Given the description of an element on the screen output the (x, y) to click on. 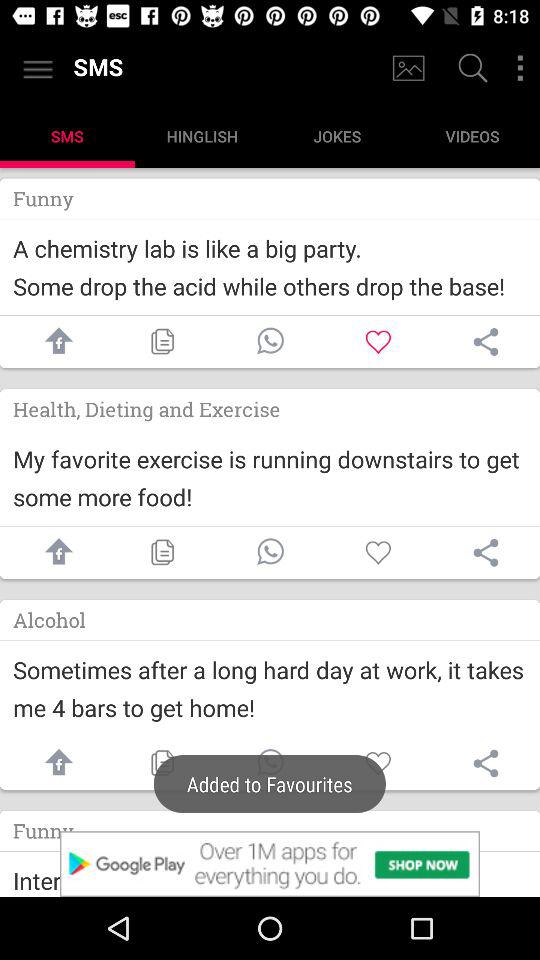
menu page (520, 67)
